Given the description of an element on the screen output the (x, y) to click on. 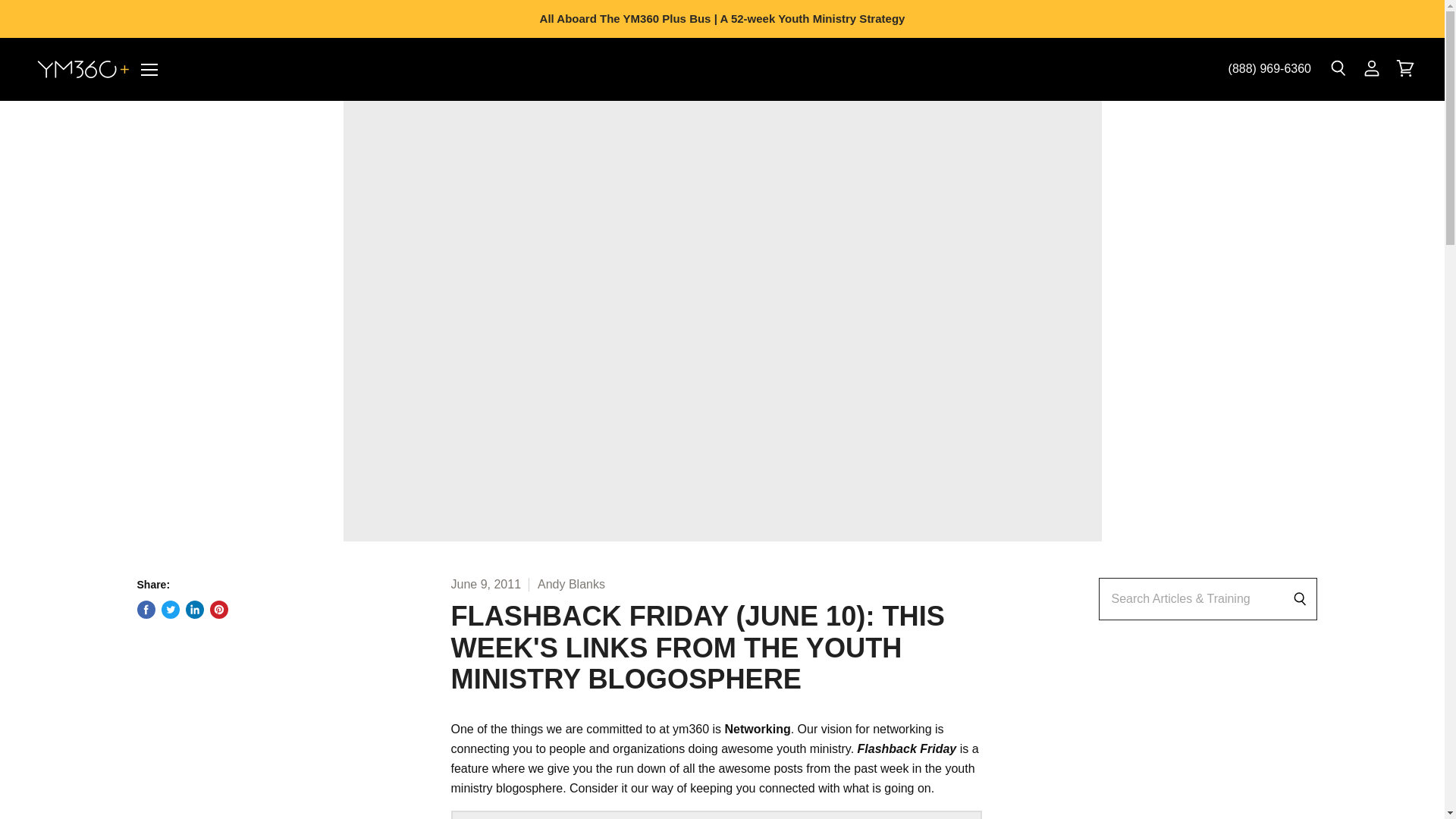
Menu (149, 68)
tel:1-888-969-6360 (1269, 68)
View cart (1405, 68)
View account (1372, 68)
Search (1338, 68)
